Given the description of an element on the screen output the (x, y) to click on. 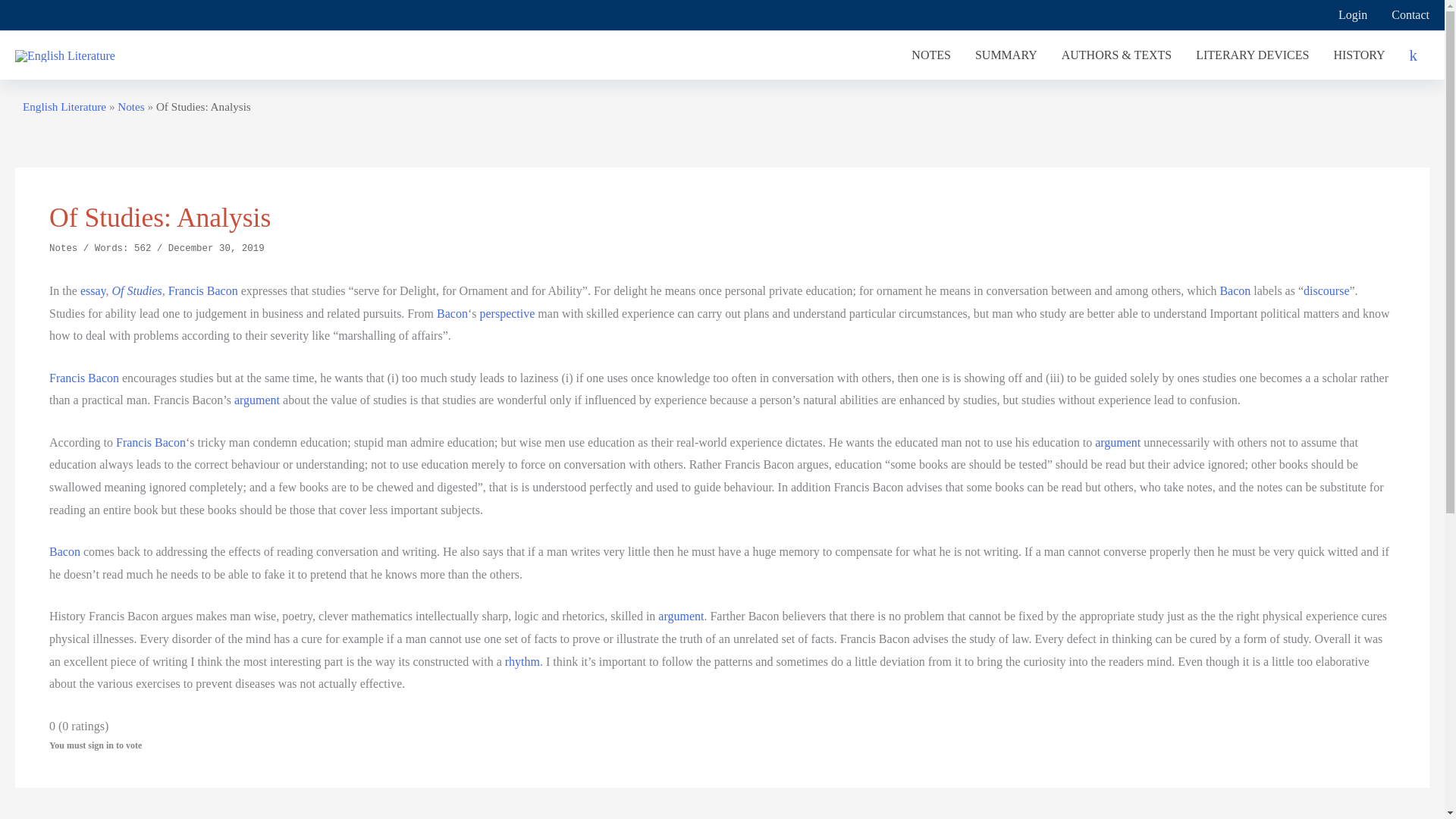
NOTES (930, 55)
rhythm (522, 661)
History of English Literature (1358, 55)
Francis Bacon (203, 290)
LITERARY DEVICES (1251, 55)
essay (93, 290)
perspective (506, 313)
argument (1117, 441)
Francis Bacon (151, 441)
Bacon (451, 313)
